Given the description of an element on the screen output the (x, y) to click on. 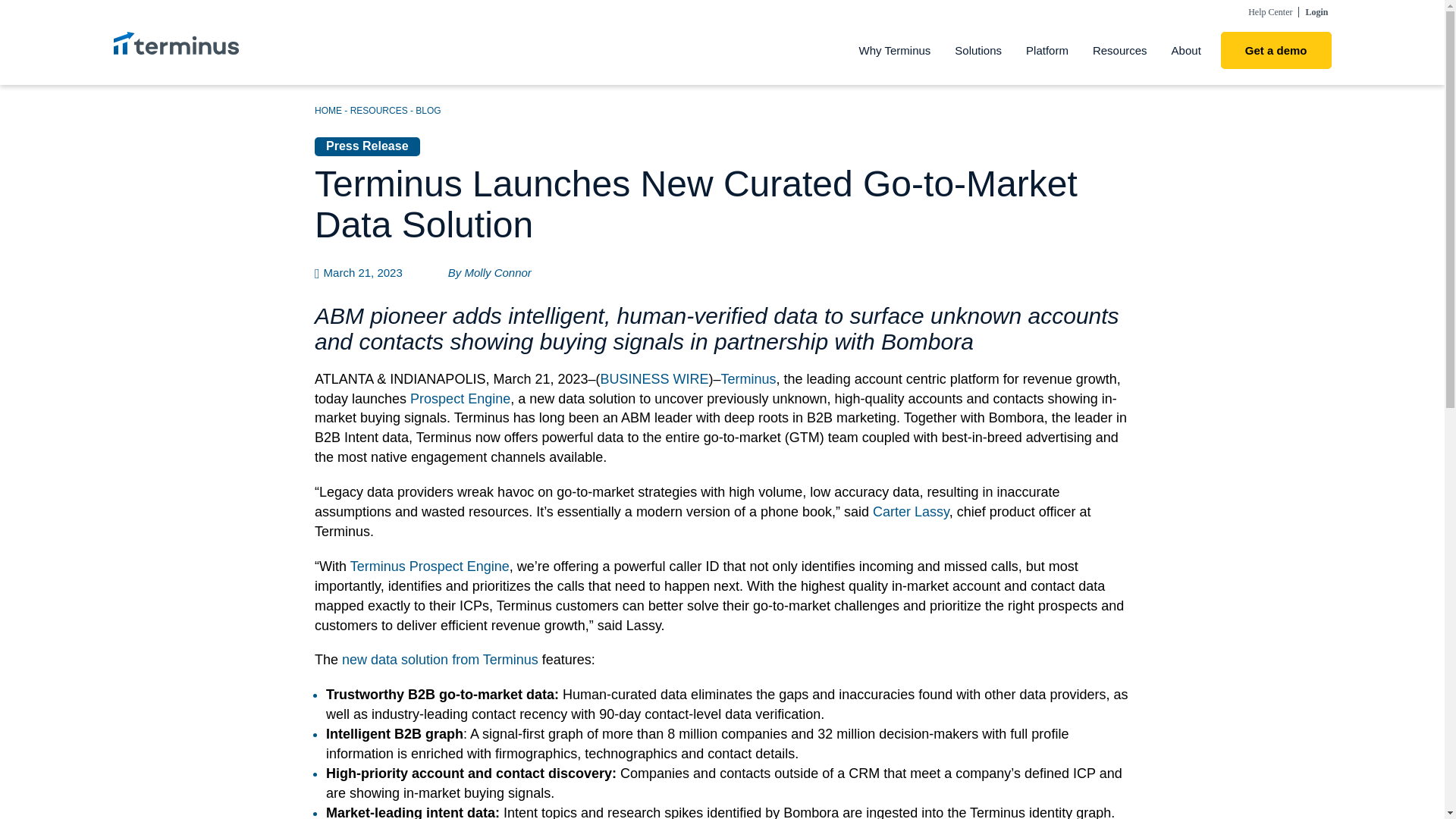
Why Terminus (895, 50)
Platform (1046, 50)
Solutions (977, 50)
